Given the description of an element on the screen output the (x, y) to click on. 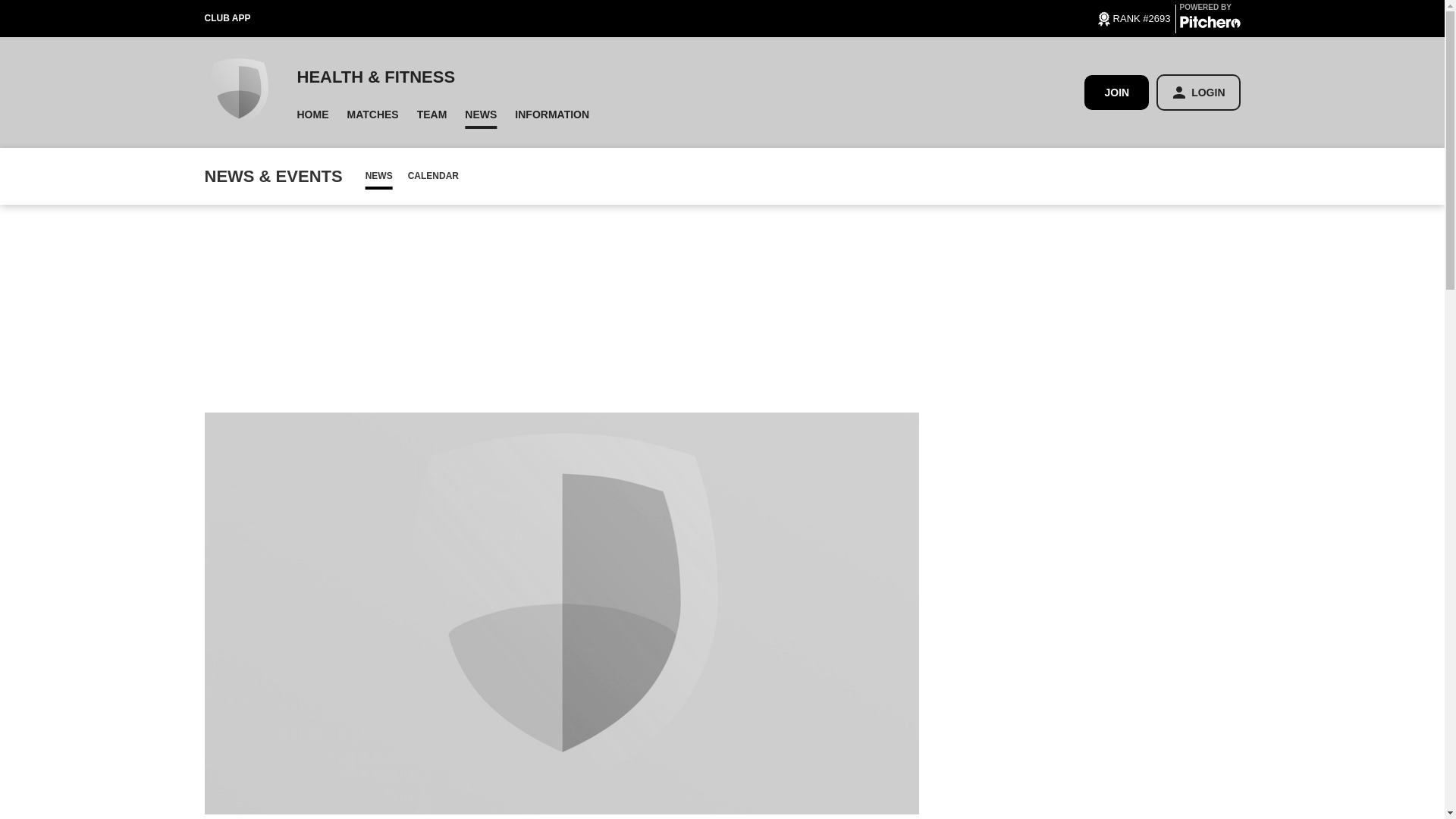
NEWS (379, 175)
TEAM (432, 114)
HOME (312, 114)
Pitchero (1209, 24)
JOIN (1116, 91)
NEWS (480, 114)
JOIN (1116, 92)
LOGIN (1198, 92)
CALENDAR (432, 175)
INFORMATION (551, 114)
CLUB APP (241, 18)
MATCHES (372, 114)
Pitchero Rankings (1132, 18)
